Given the description of an element on the screen output the (x, y) to click on. 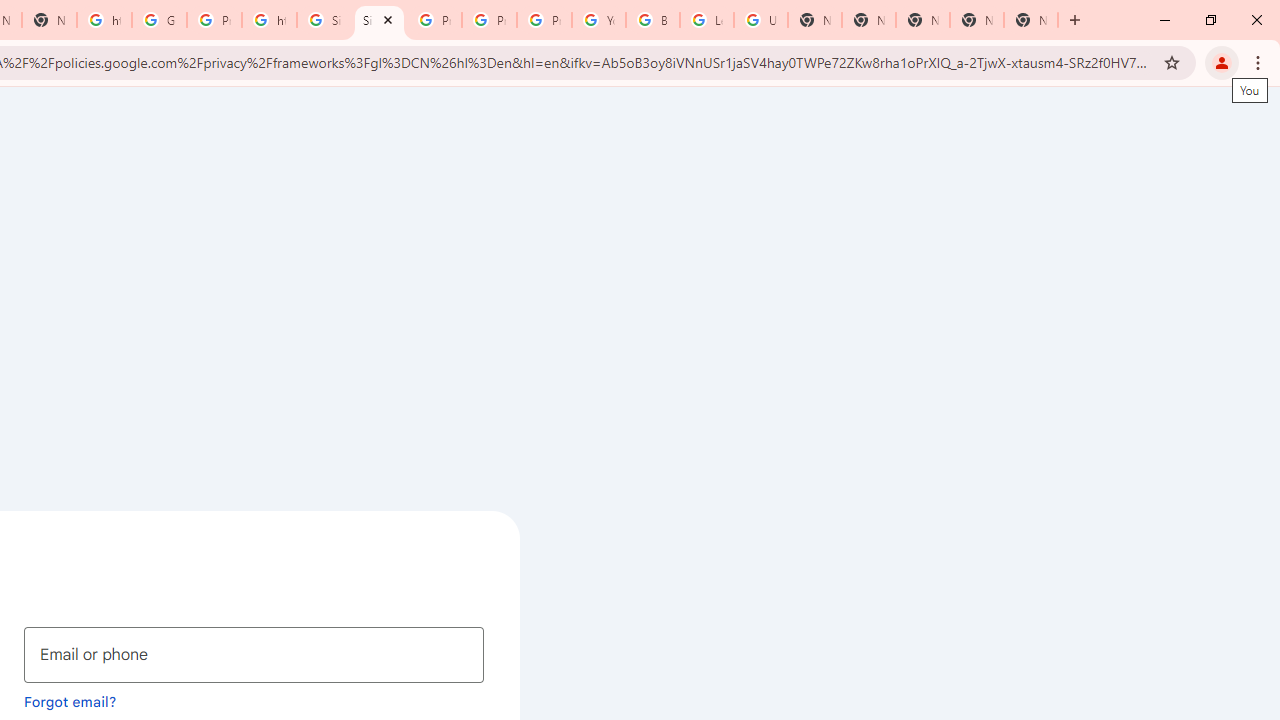
New Tab (1030, 20)
New Tab (868, 20)
Sign in - Google Accounts (379, 20)
Email or phone (253, 654)
Sign in - Google Accounts (324, 20)
https://scholar.google.com/ (268, 20)
YouTube (598, 20)
Forgot email? (70, 701)
Privacy Help Center - Policies Help (489, 20)
